Given the description of an element on the screen output the (x, y) to click on. 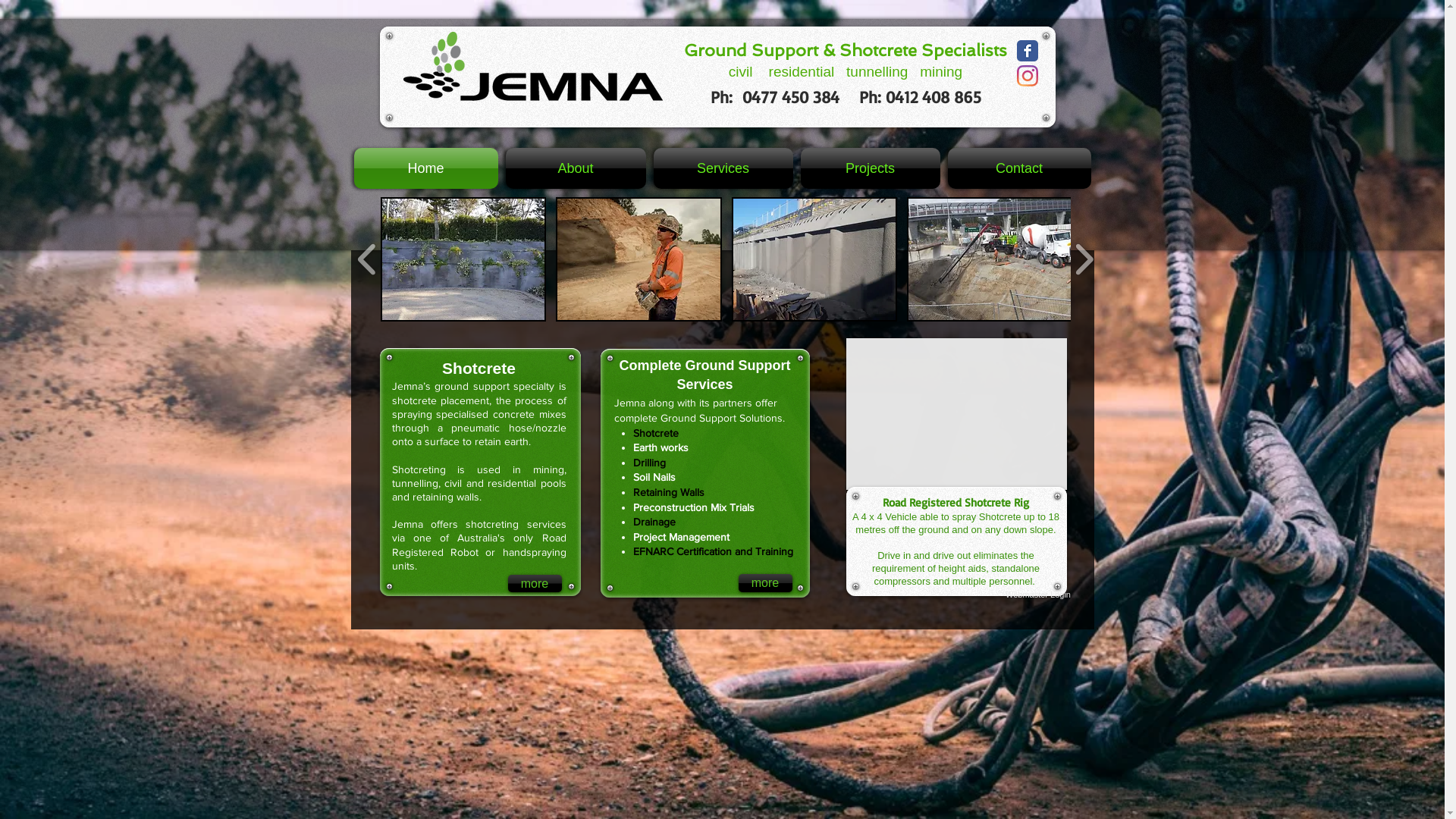
Projects Element type: text (869, 167)
WEB-STAT Element type: hover (1021, 662)
About Element type: text (575, 167)
Home Element type: text (427, 167)
Contact Element type: text (1016, 167)
more Element type: text (534, 583)
Services Element type: text (722, 167)
Webmaster Login Element type: text (1037, 594)
more Element type: text (765, 583)
External YouTube Element type: hover (956, 413)
